Given the description of an element on the screen output the (x, y) to click on. 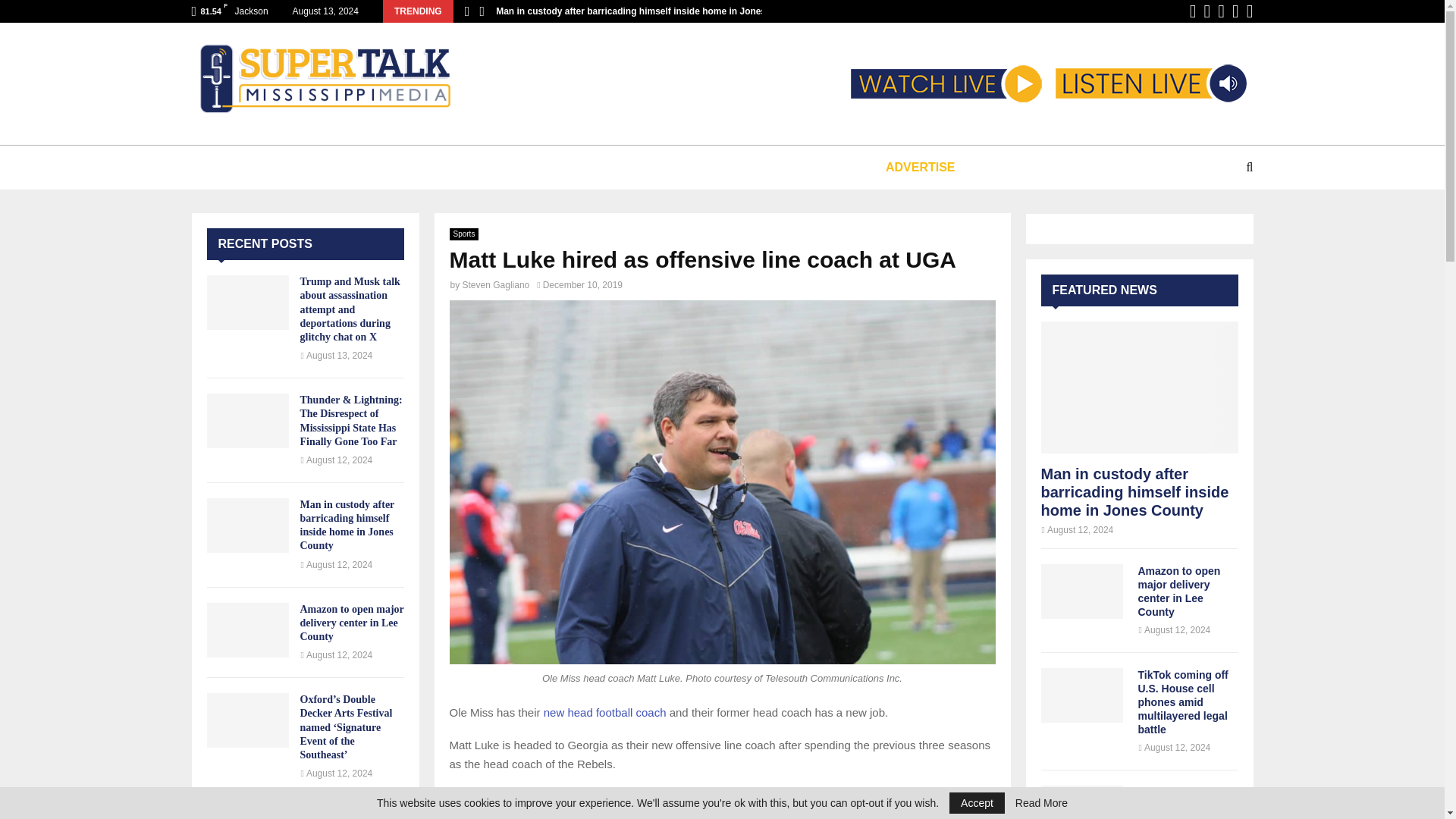
TUNE IN (255, 167)
STATIONS (345, 167)
